Given the description of an element on the screen output the (x, y) to click on. 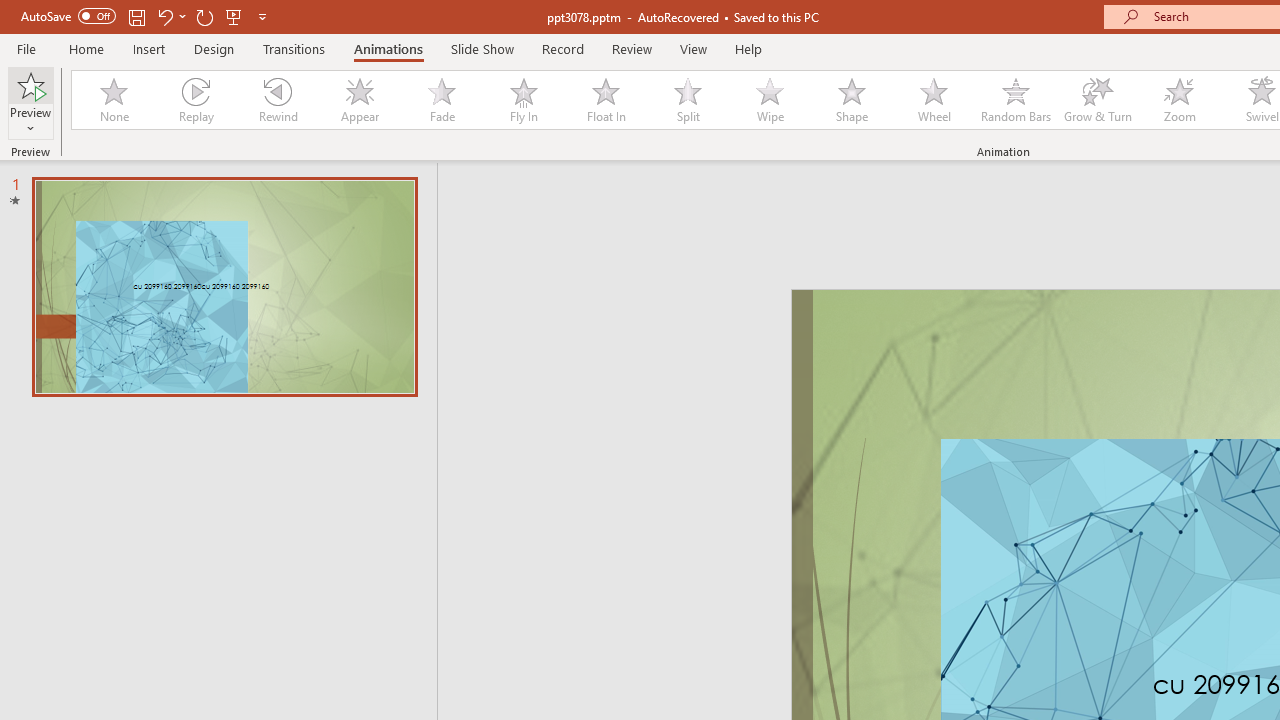
Wheel (934, 100)
Split (687, 100)
Shape (852, 100)
Rewind (277, 100)
